Given the description of an element on the screen output the (x, y) to click on. 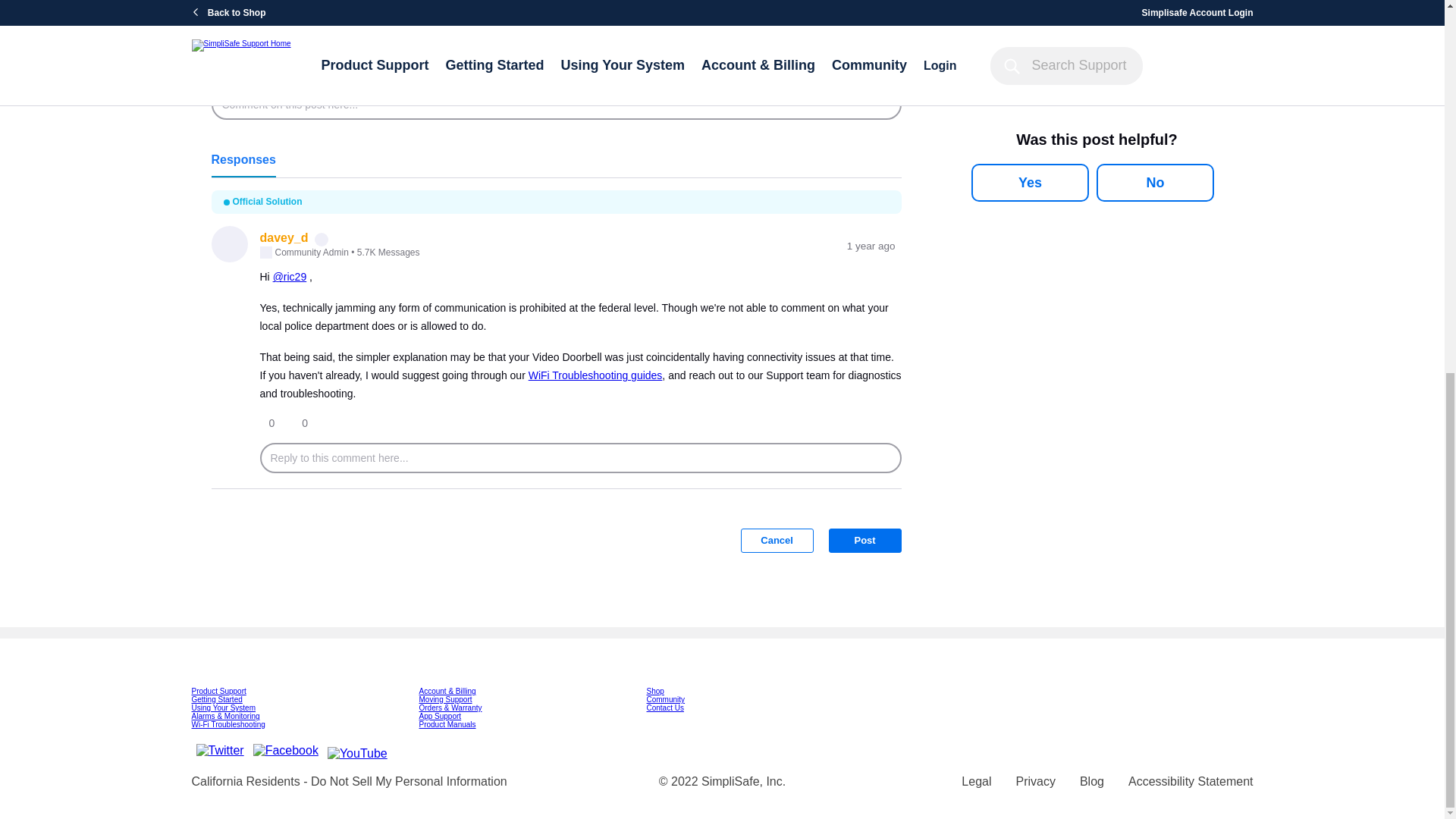
WiFi Troubleshooting guides (595, 375)
No (1155, 182)
3 (892, 11)
Wi-Fi Troubleshooting (227, 724)
Cancel (777, 540)
SimpliSafe Staff (321, 239)
App Support (440, 715)
Using Your System (223, 707)
Community Admin (264, 252)
Like (235, 51)
